Given the description of an element on the screen output the (x, y) to click on. 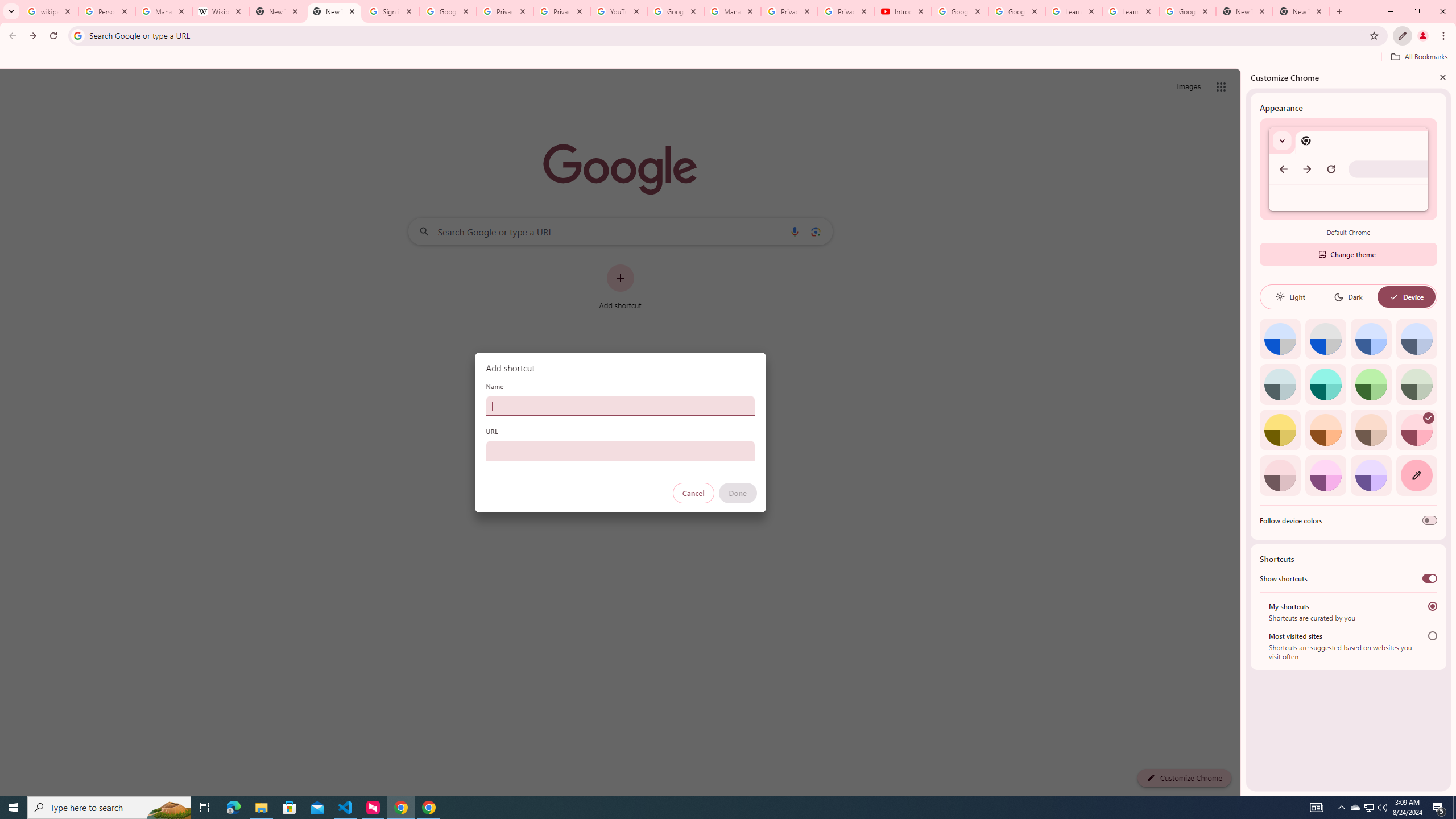
Google Account (1187, 11)
Sign in - Google Accounts (391, 11)
Manage your Location History - Google Search Help (163, 11)
Introduction | Google Privacy Policy - YouTube (902, 11)
Default color (1279, 338)
Done (737, 493)
Aqua (1325, 383)
Pink (1279, 475)
